Given the description of an element on the screen output the (x, y) to click on. 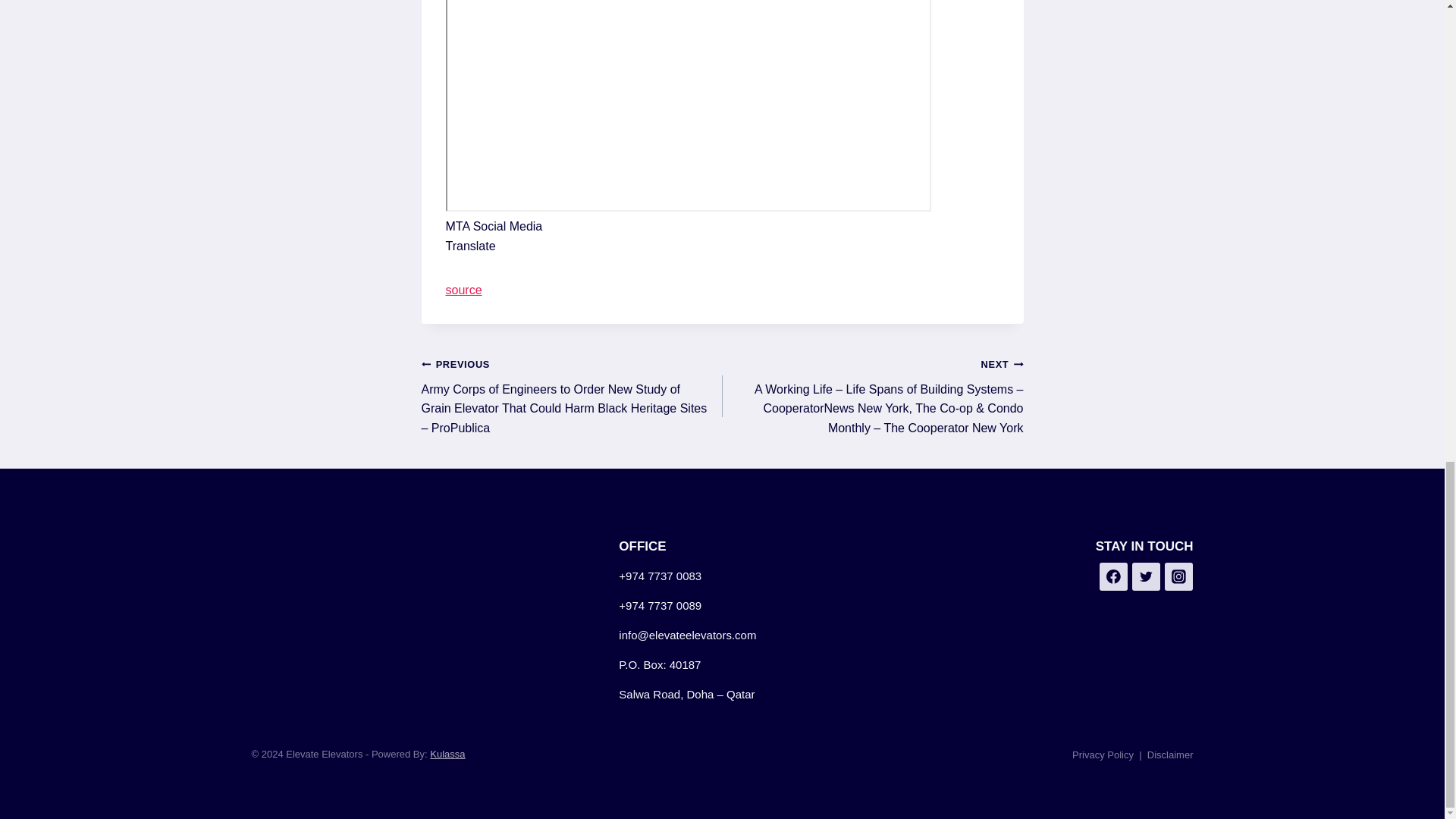
Kulassa (446, 754)
Disclaimer (1170, 754)
Privacy Policy (1102, 754)
source (463, 289)
